Given the description of an element on the screen output the (x, y) to click on. 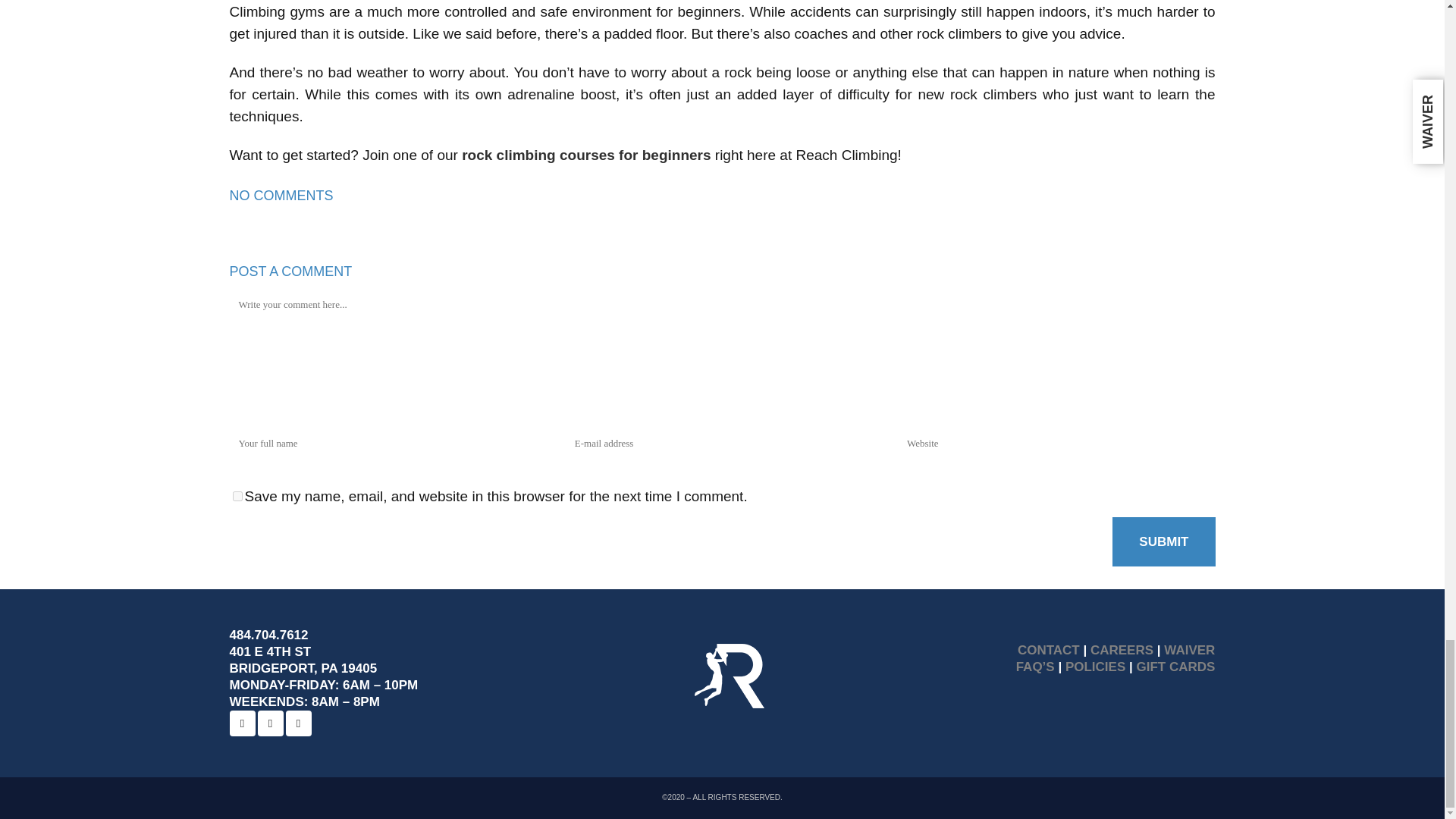
yes (236, 496)
Submit (1163, 541)
